Given the description of an element on the screen output the (x, y) to click on. 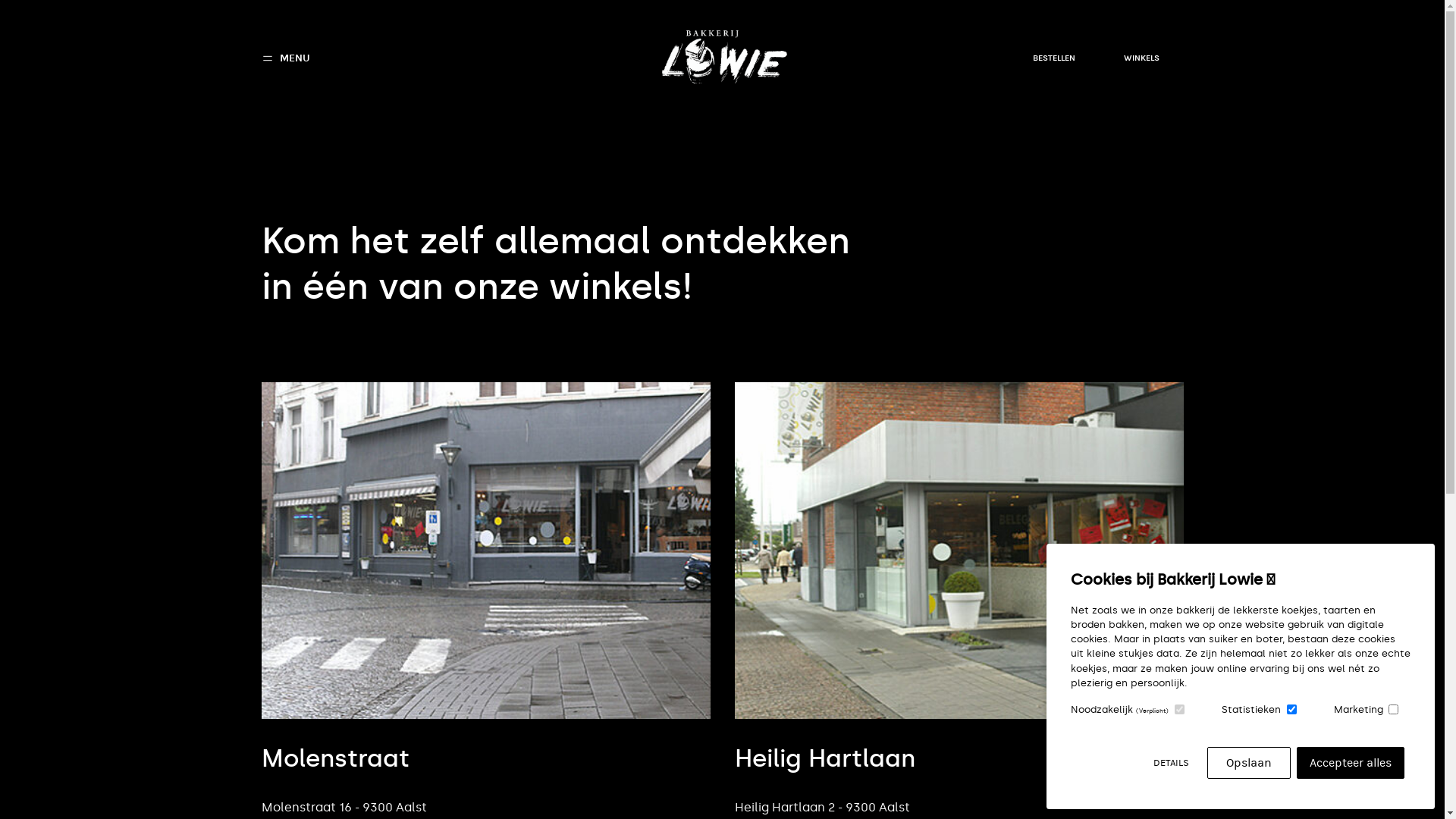
WINKELS Element type: text (1141, 58)
DETAILS Element type: text (1171, 763)
BESTELLEN Element type: text (1053, 58)
Opslaan Element type: text (1248, 762)
Accepteer alles Element type: text (1350, 762)
